Given the description of an element on the screen output the (x, y) to click on. 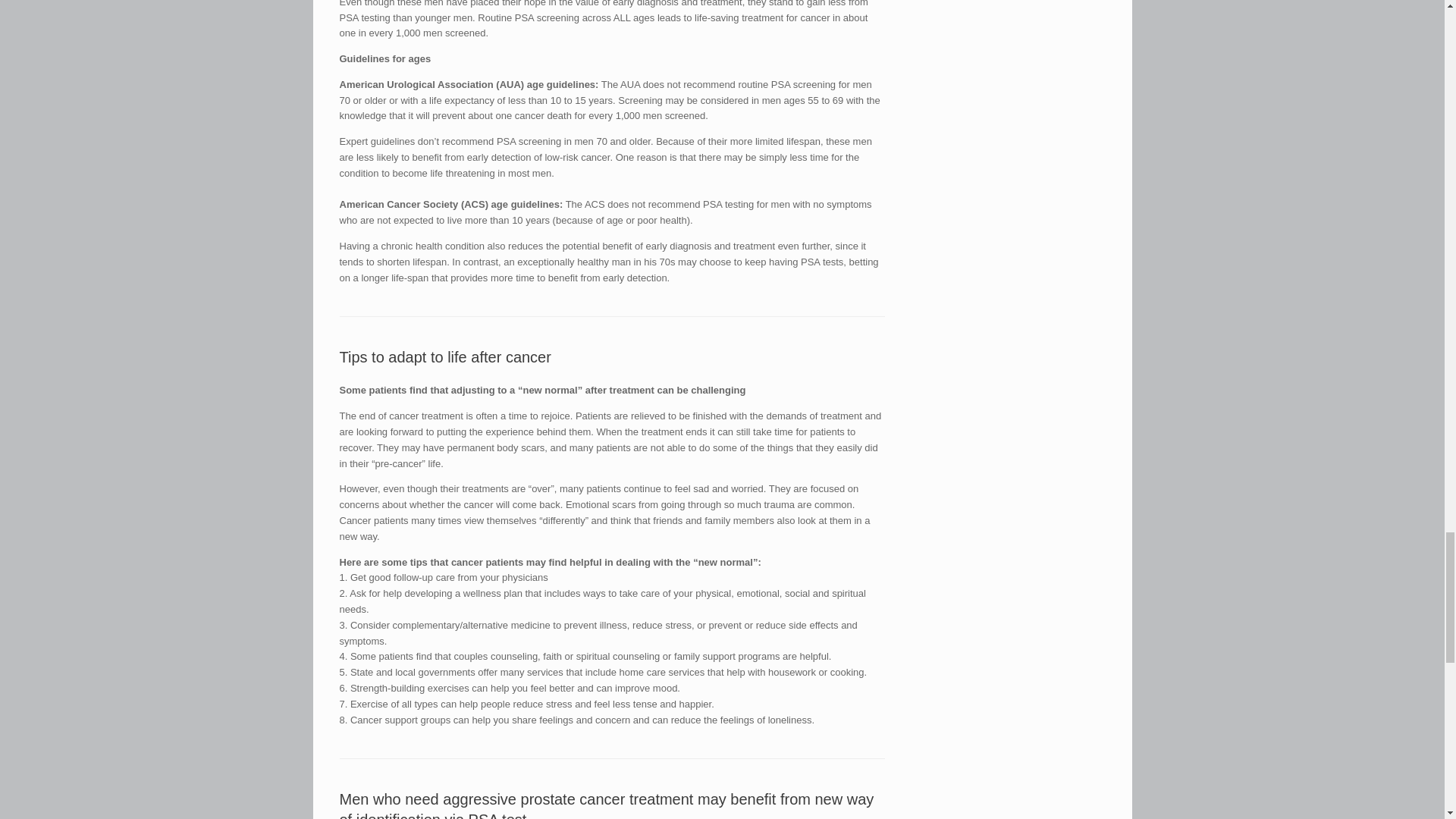
Tips to adapt to life after cancer (445, 356)
Permalink to Tips to adapt to life after cancer (445, 356)
